Given the description of an element on the screen output the (x, y) to click on. 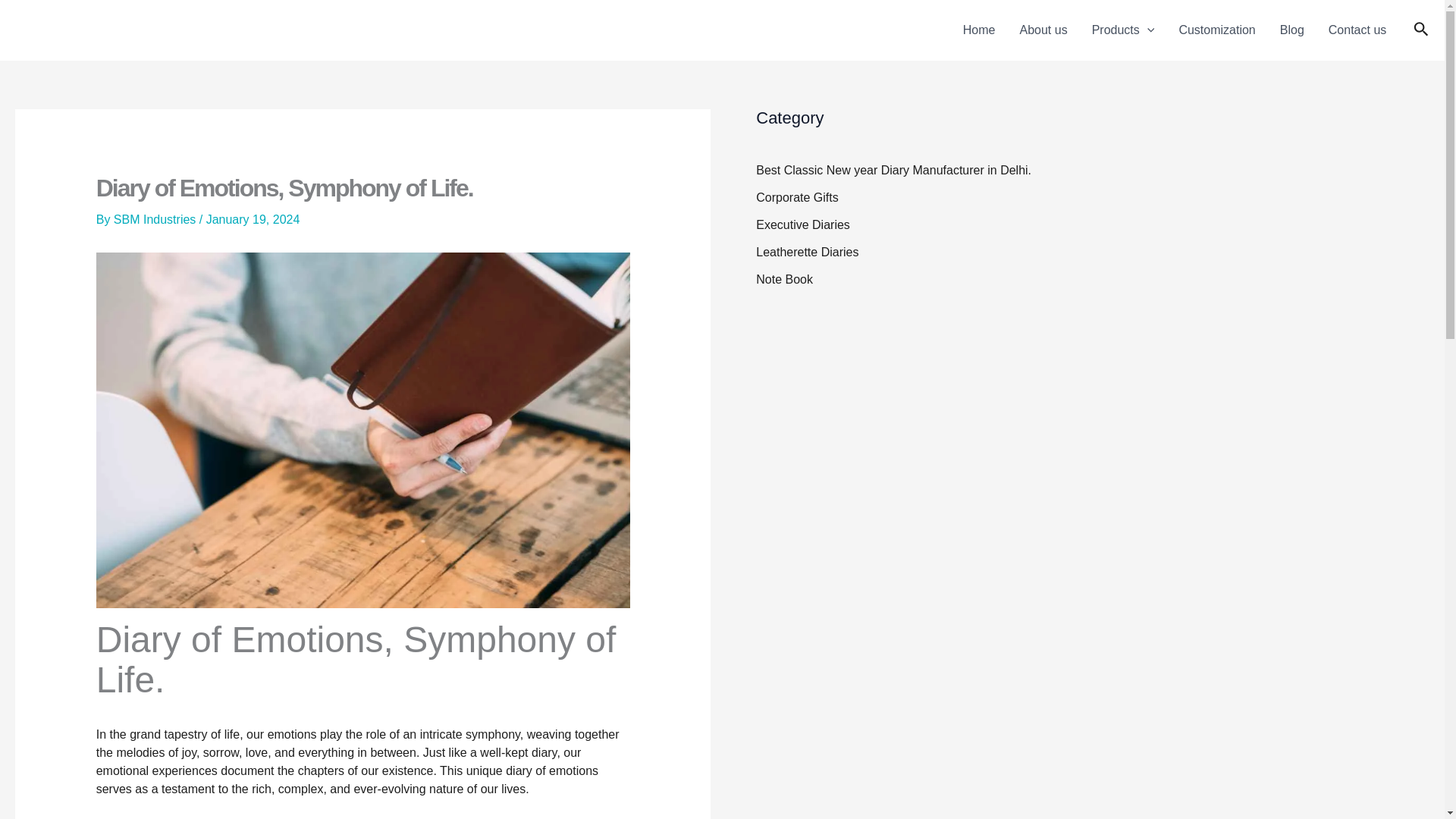
Leatherette Diaries (807, 251)
Corporate Gifts (796, 196)
View all posts by SBM Industries (156, 219)
SBM Industries (156, 219)
Products (1123, 30)
Executive Diaries (802, 224)
Home (978, 30)
About us (1042, 30)
Customization (1216, 30)
Best Classic New year Diary Manufacturer in Delhi. (892, 169)
